Given the description of an element on the screen output the (x, y) to click on. 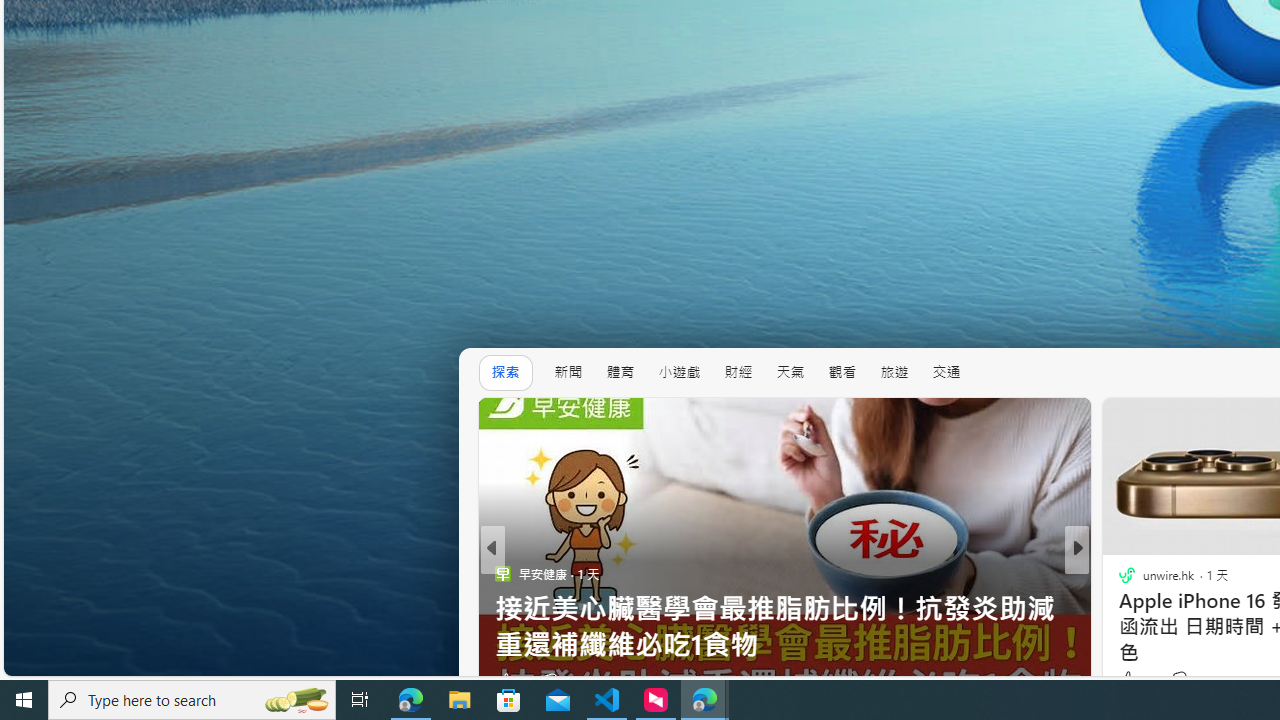
AFP (1117, 609)
ELLE HK (1117, 573)
FinTV (1117, 609)
